Given the description of an element on the screen output the (x, y) to click on. 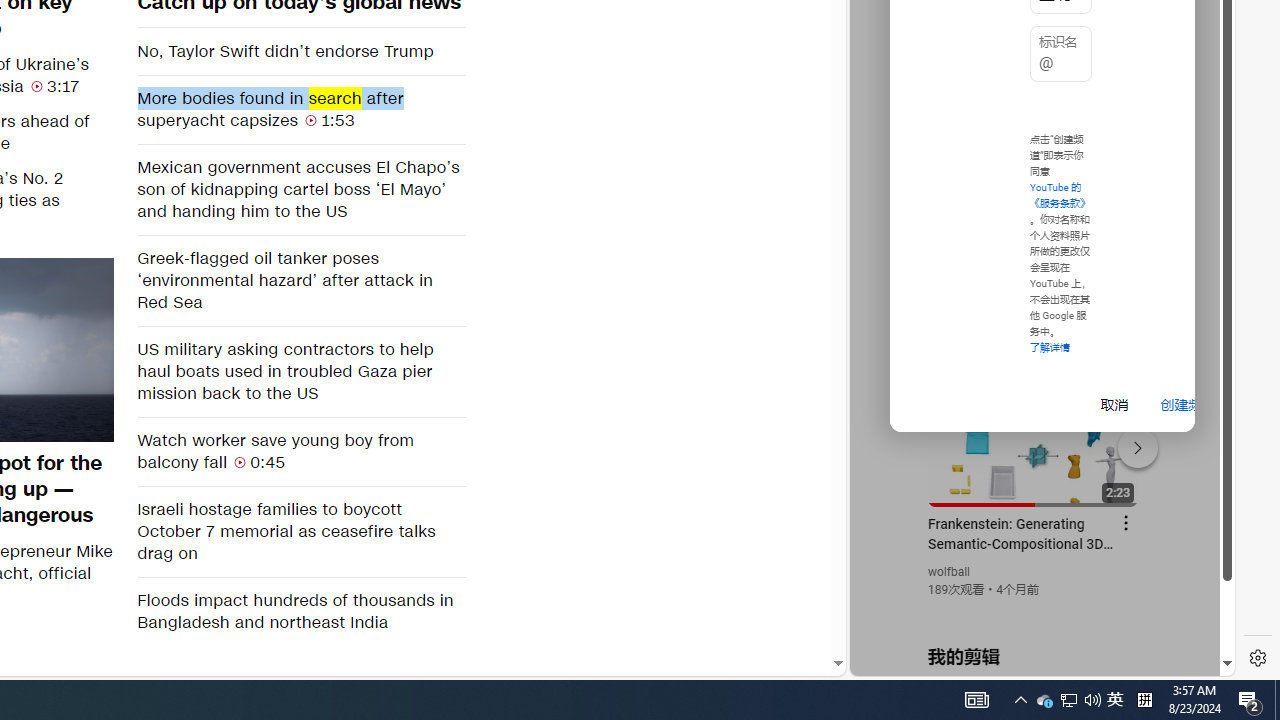
Watch worker save young boy from balcony fall 0:45 (300, 451)
Class: dict_pnIcon rms_img (1028, 660)
